Given the description of an element on the screen output the (x, y) to click on. 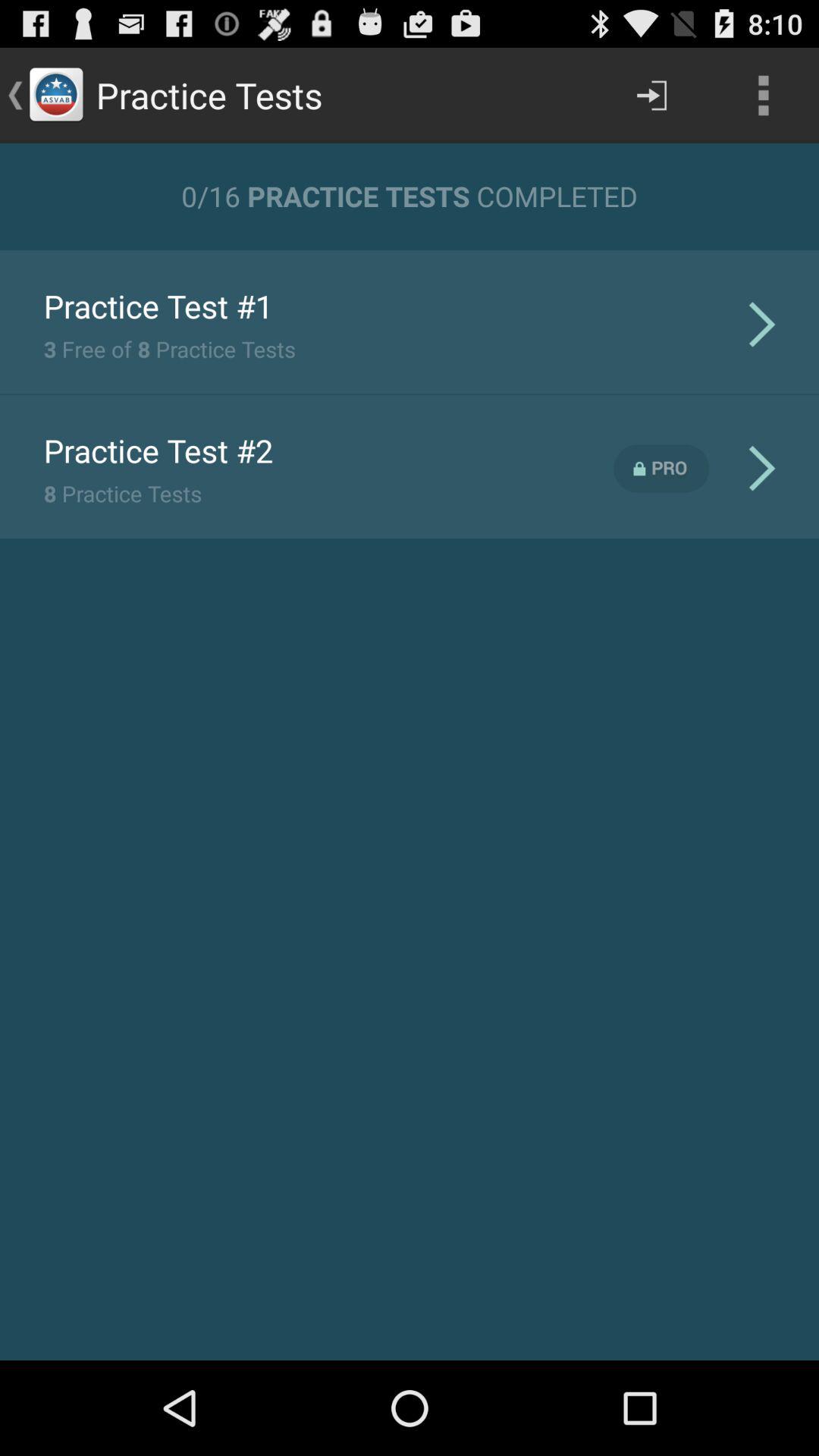
turn off the icon next to the practice test #2 app (661, 468)
